Given the description of an element on the screen output the (x, y) to click on. 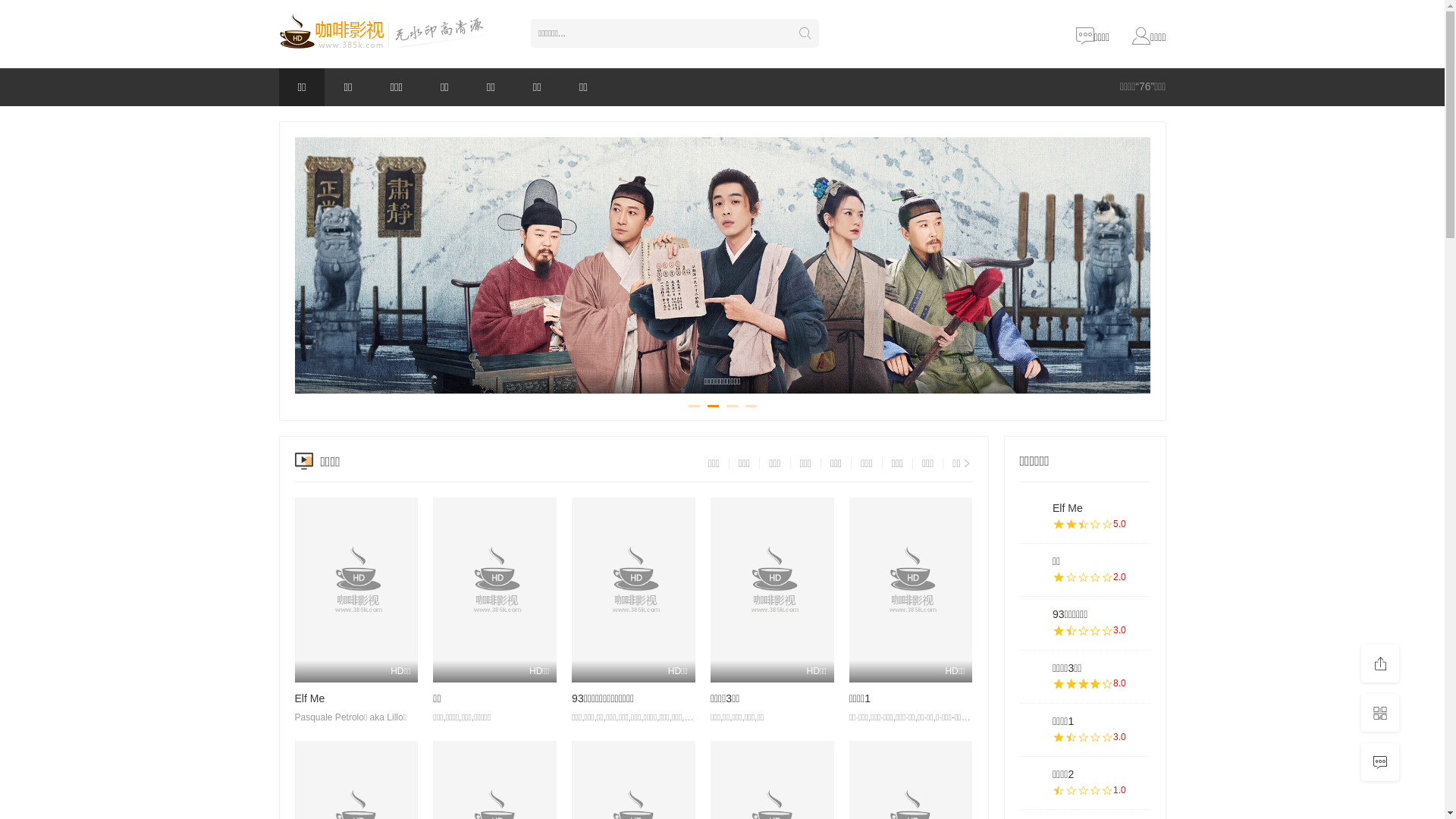
Elf Me Element type: hover (1031, 516)
Elf Me Element type: text (309, 698)
Elf Me Element type: text (1067, 508)
